Given the description of an element on the screen output the (x, y) to click on. 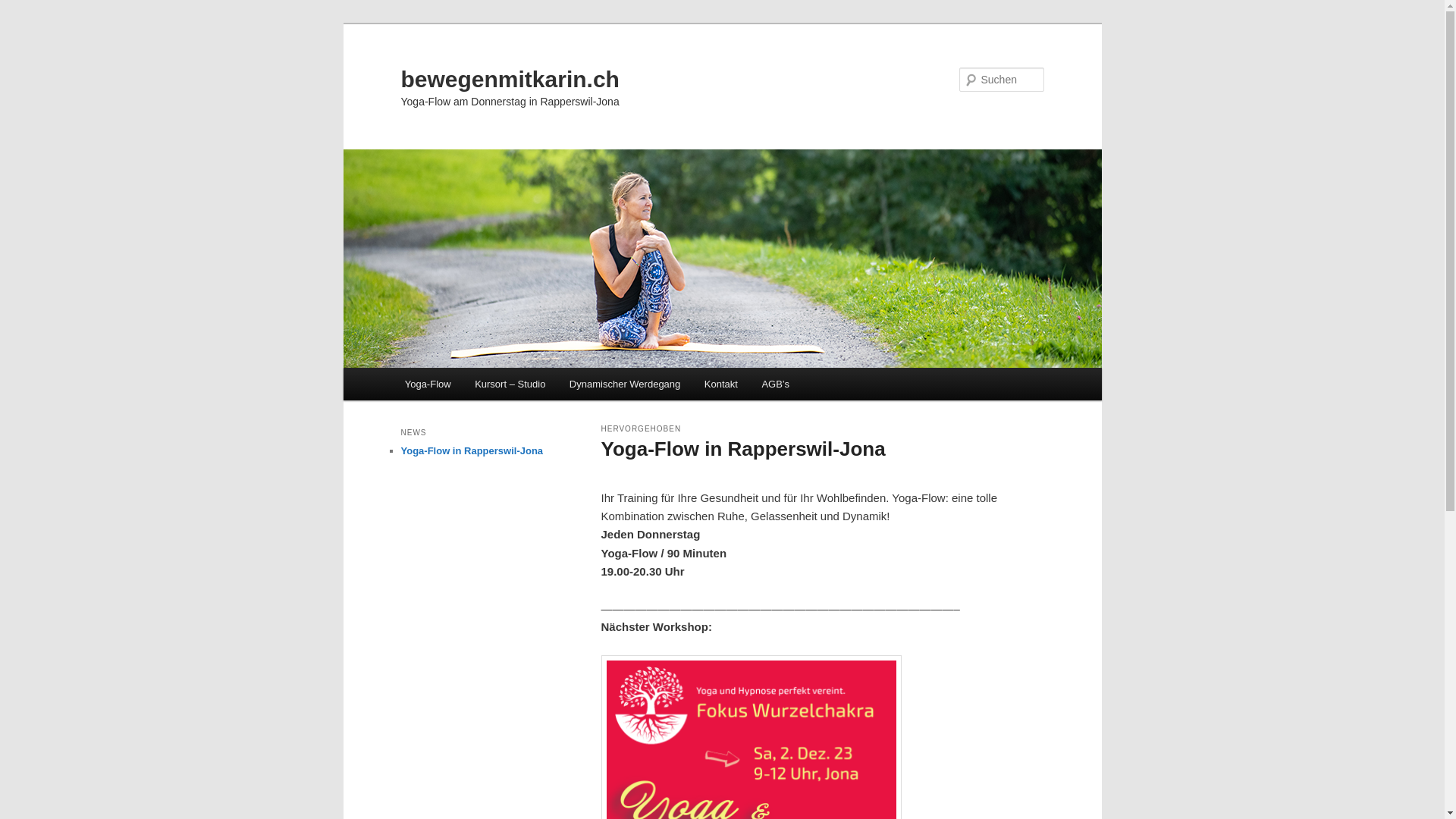
Yoga-Flow in Rapperswil-Jona Element type: text (742, 448)
Yoga-Flow in Rapperswil-Jona Element type: text (471, 450)
Zum Inhalt wechseln Element type: text (414, 367)
bewegenmitkarin.ch Element type: text (509, 78)
Yoga-Flow Element type: text (427, 383)
Kontakt Element type: text (720, 383)
Dynamischer Werdegang Element type: text (624, 383)
Suchen Element type: text (25, 8)
3. September 2019 Element type: text (710, 476)
